Given the description of an element on the screen output the (x, y) to click on. 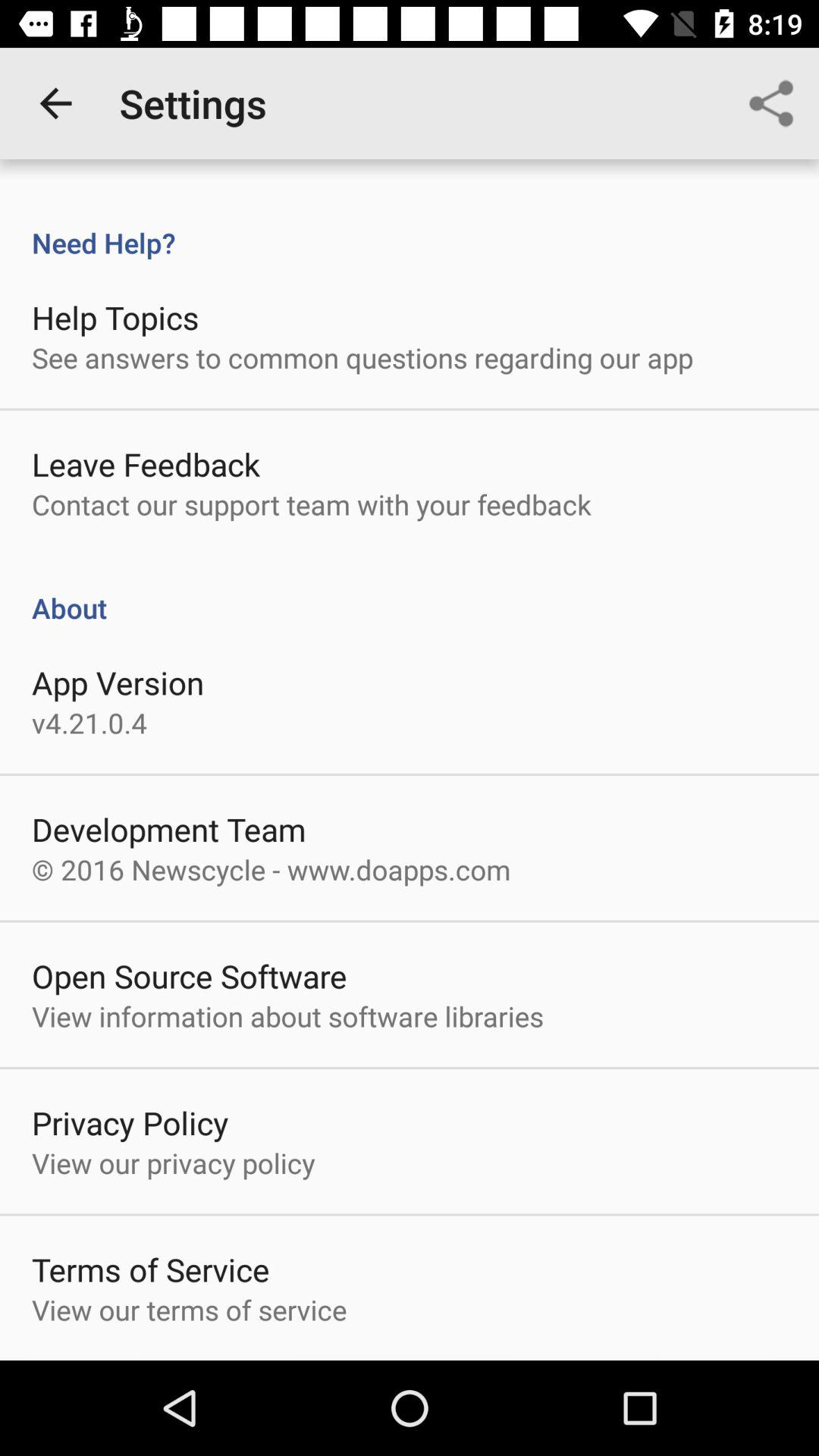
open the item above the open source software (270, 869)
